Given the description of an element on the screen output the (x, y) to click on. 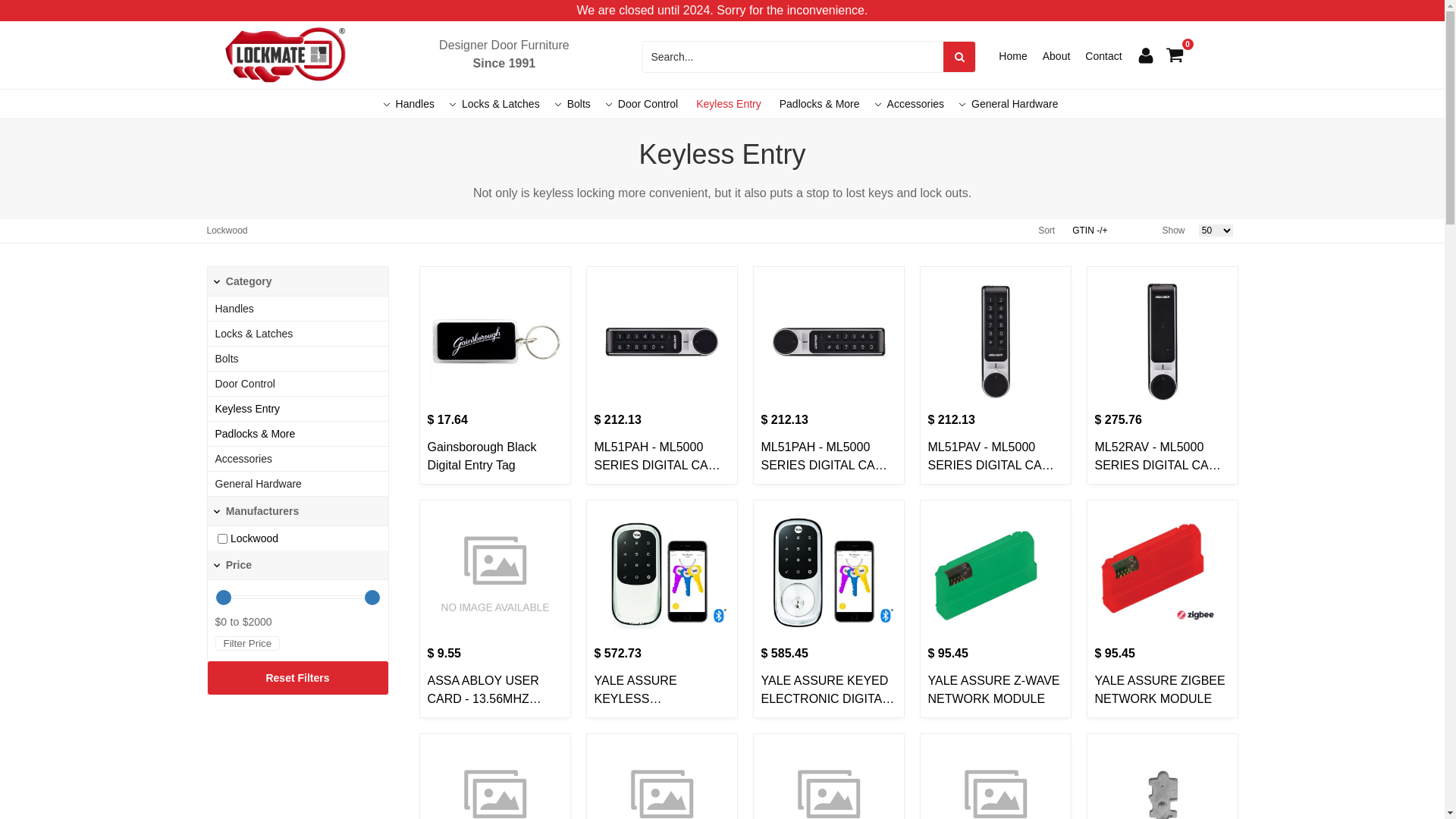
8 Element type: text (221, 538)
Padlocks & More Element type: text (255, 433)
Locks & Latches Element type: text (500, 103)
Keyless Entry Element type: text (728, 103)
General Hardware Element type: text (1014, 103)
GTIN -/+ Element type: text (1089, 230)
0 Element type: text (1174, 56)
About Element type: text (1056, 55)
Lockwood Element type: text (254, 538)
Padlocks & More Element type: text (819, 103)
$ 17.64
Gainsborough Black Digital Entry Tag Element type: text (494, 366)
Door Control Element type: text (245, 383)
Bolts Element type: text (226, 358)
Accessories Element type: text (243, 458)
Keyless Entry Element type: text (247, 408)
Accessories Element type: text (915, 103)
Handles Element type: text (234, 308)
$ 95.45
YALE ASSURE Z-WAVE NETWORK MODULE Element type: text (995, 600)
$ 95.45
YALE ASSURE ZIGBEE NETWORK MODULE Element type: text (1162, 600)
Filter Price Element type: text (247, 643)
Contact Element type: text (1103, 55)
Locks & Latches Element type: text (254, 333)
General Hardware Element type: text (258, 483)
Home Element type: text (1012, 55)
Bolts Element type: text (578, 103)
Reset Filters Element type: text (297, 677)
Handles Element type: text (415, 103)
$ 9.55
ASSA ABLOY USER CARD - 13.56MHZ MIFARE PK=10 Element type: text (494, 600)
Door Control Element type: text (647, 103)
